Given the description of an element on the screen output the (x, y) to click on. 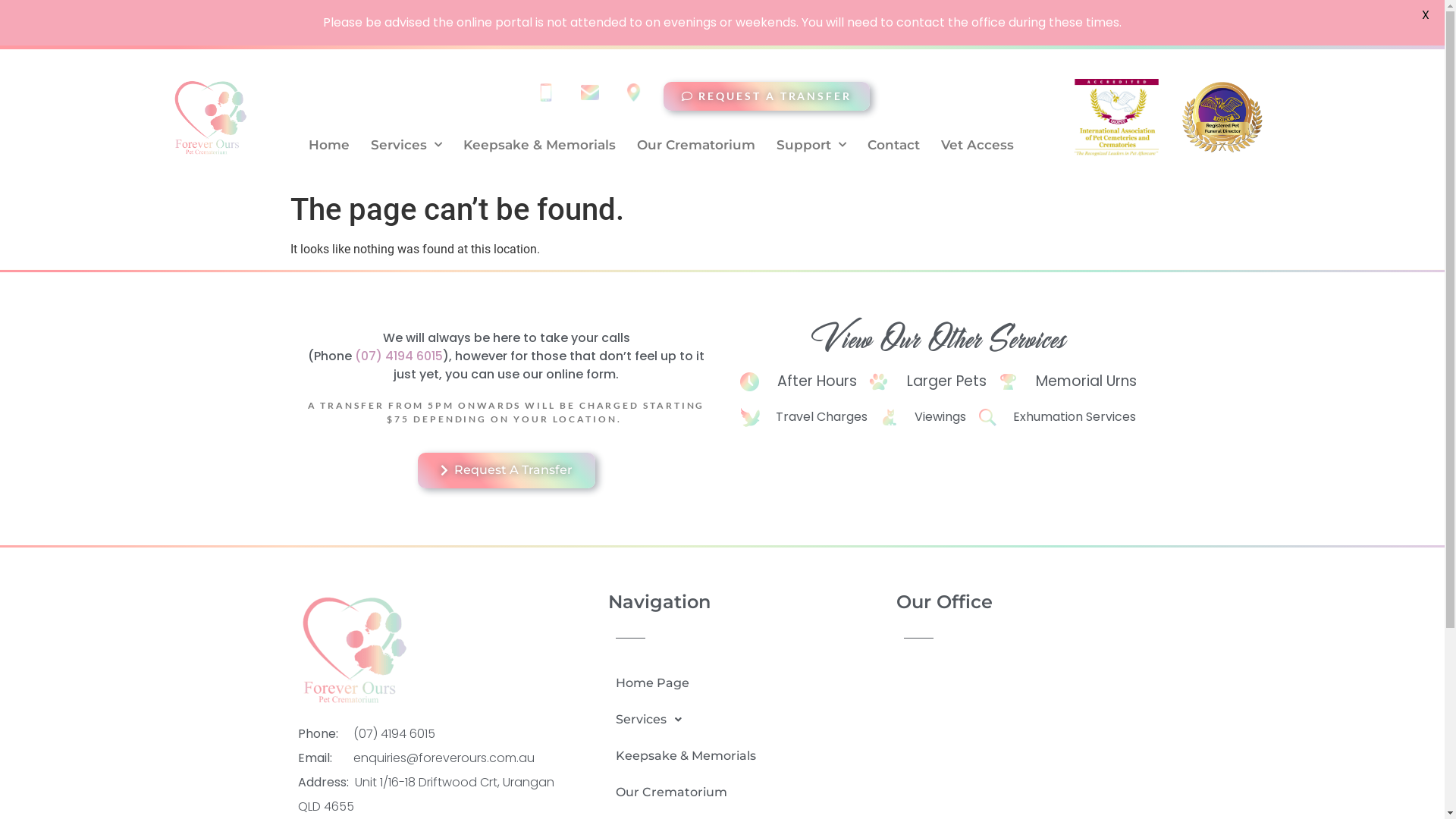
REQUEST A TRANSFER Element type: text (766, 95)
Home Element type: text (329, 144)
Services Element type: text (685, 719)
Email:       enquiries@foreverours.com.au Element type: text (429, 758)
Keepsake & Memorials Element type: text (685, 755)
Keepsake & Memorials Element type: text (539, 144)
Memorial Urns Element type: text (1067, 381)
Viewings Element type: text (922, 416)
(07) 4194 6015 Element type: text (398, 355)
Larger Pets Element type: text (927, 381)
Support Element type: text (810, 144)
Our Crematorium Element type: text (695, 144)
Phone:     (07) 4194 6015 Element type: text (429, 733)
Vet Access Element type: text (977, 144)
Services Element type: text (406, 144)
Contact Element type: text (893, 144)
After Hours Element type: text (798, 381)
Our Crematorium Element type: text (685, 792)
Exhumation Services Element type: text (1056, 416)
Travel Charges Element type: text (803, 416)
Home Page Element type: text (685, 683)
Request A Transfer Element type: text (505, 470)
